Given the description of an element on the screen output the (x, y) to click on. 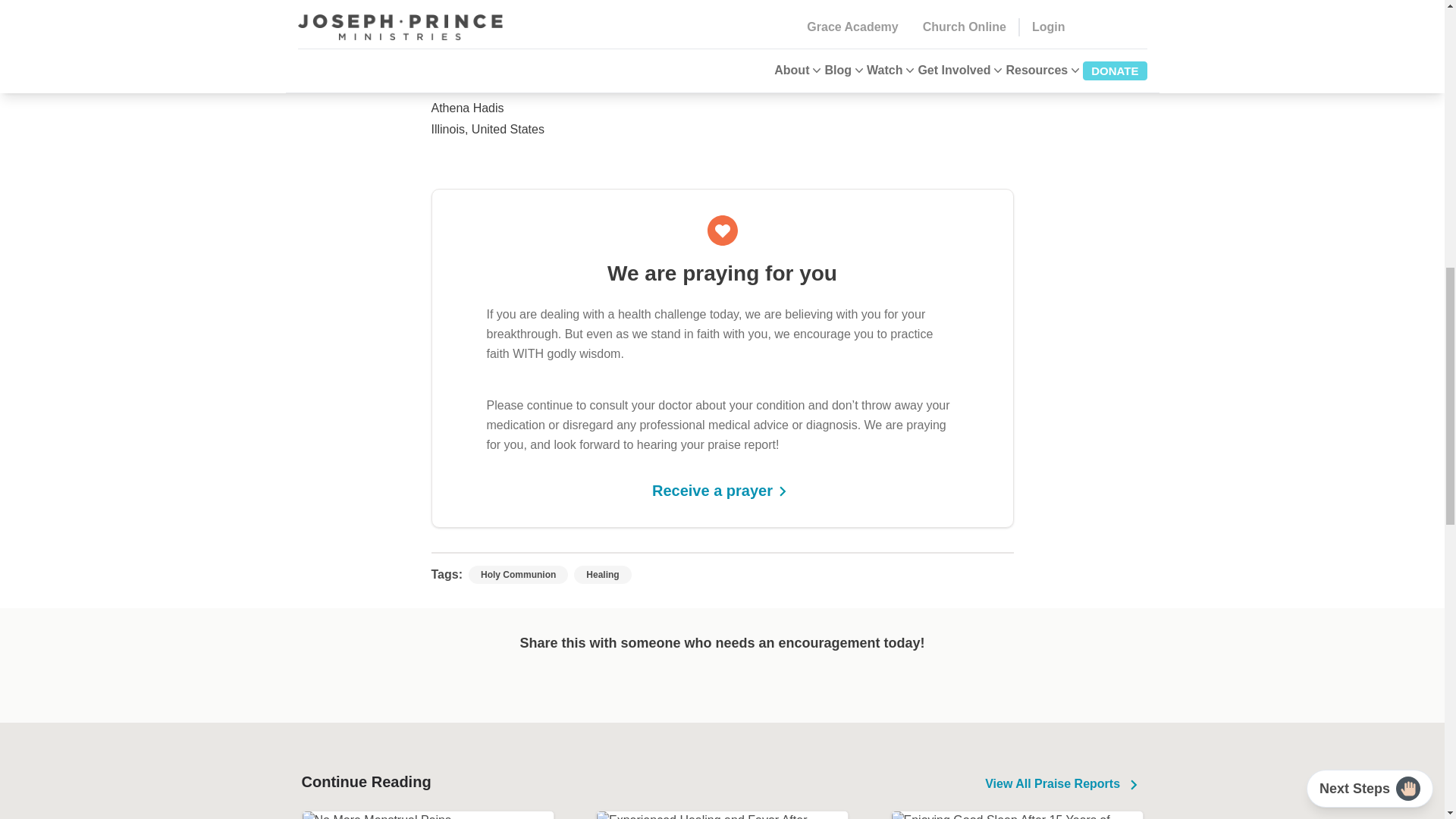
Copy link to clipboard (787, 685)
Share on Facebook (655, 685)
Send email (743, 685)
